Given the description of an element on the screen output the (x, y) to click on. 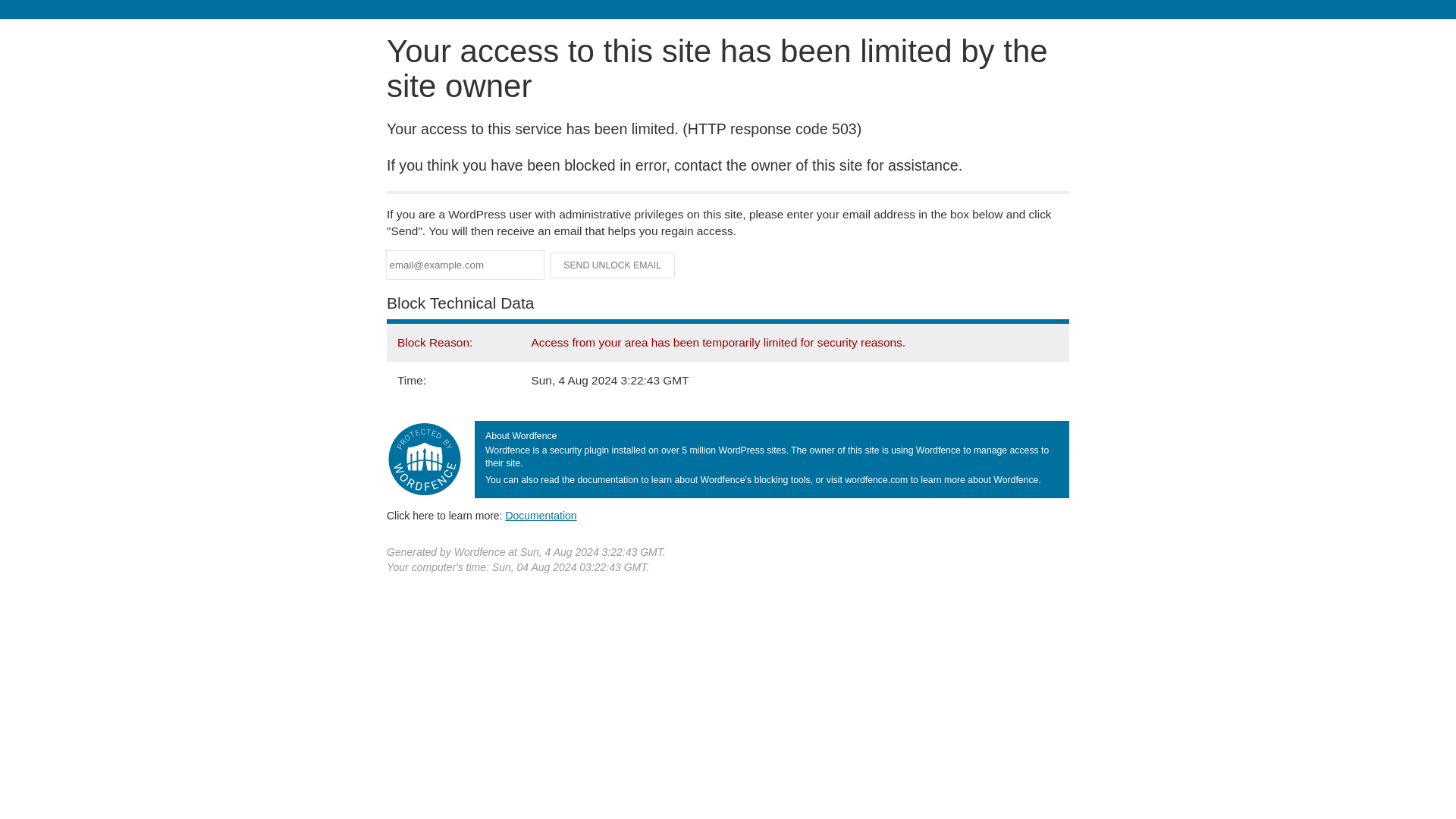
Send Unlock Email (612, 265)
Documentation (540, 515)
Send Unlock Email (612, 265)
